Given the description of an element on the screen output the (x, y) to click on. 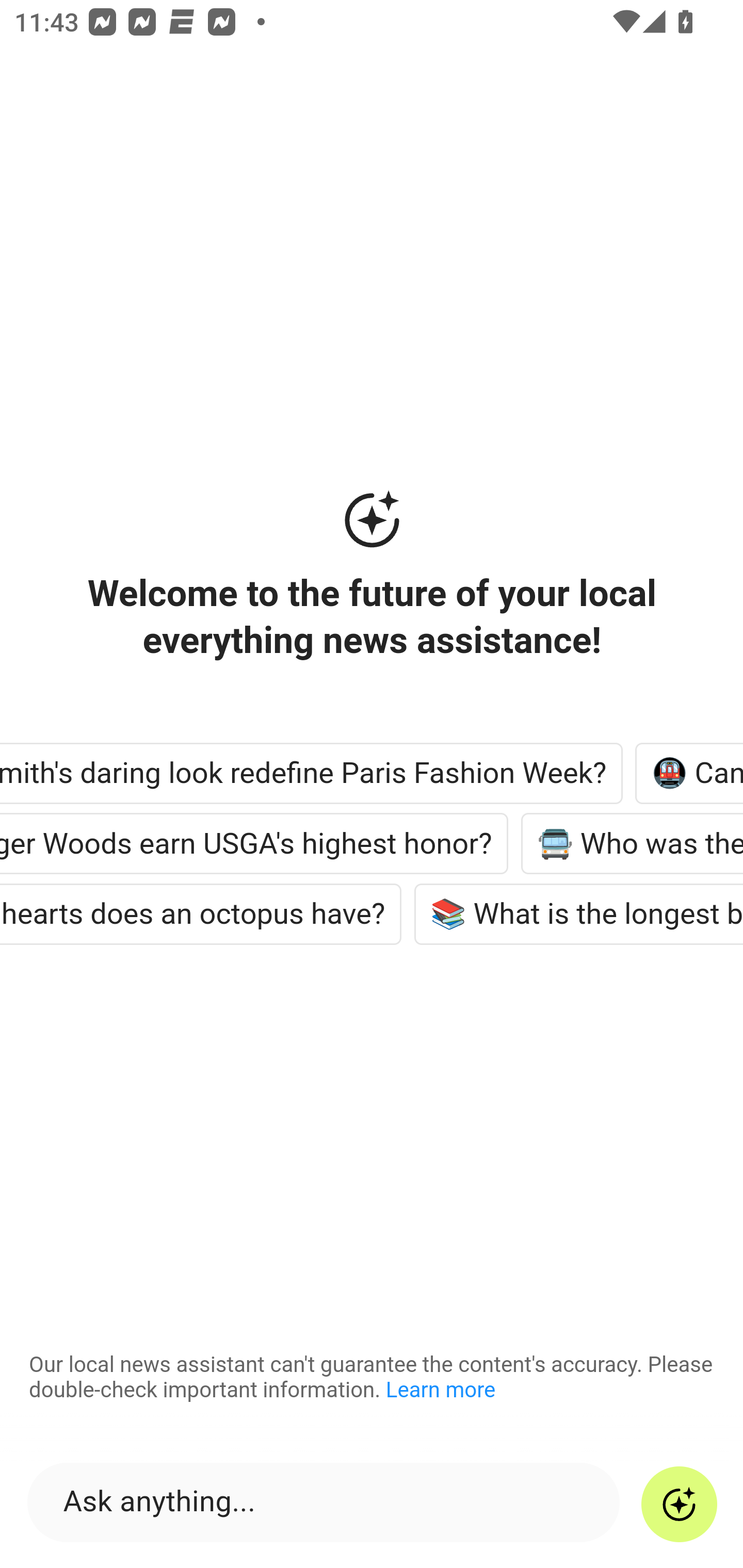
🏆 How did Tiger Woods earn USGA's highest honor? (255, 843)
🐙 How many hearts does an octopus have? (202, 913)
📚 What is the longest book ever written? (579, 913)
